Given the description of an element on the screen output the (x, y) to click on. 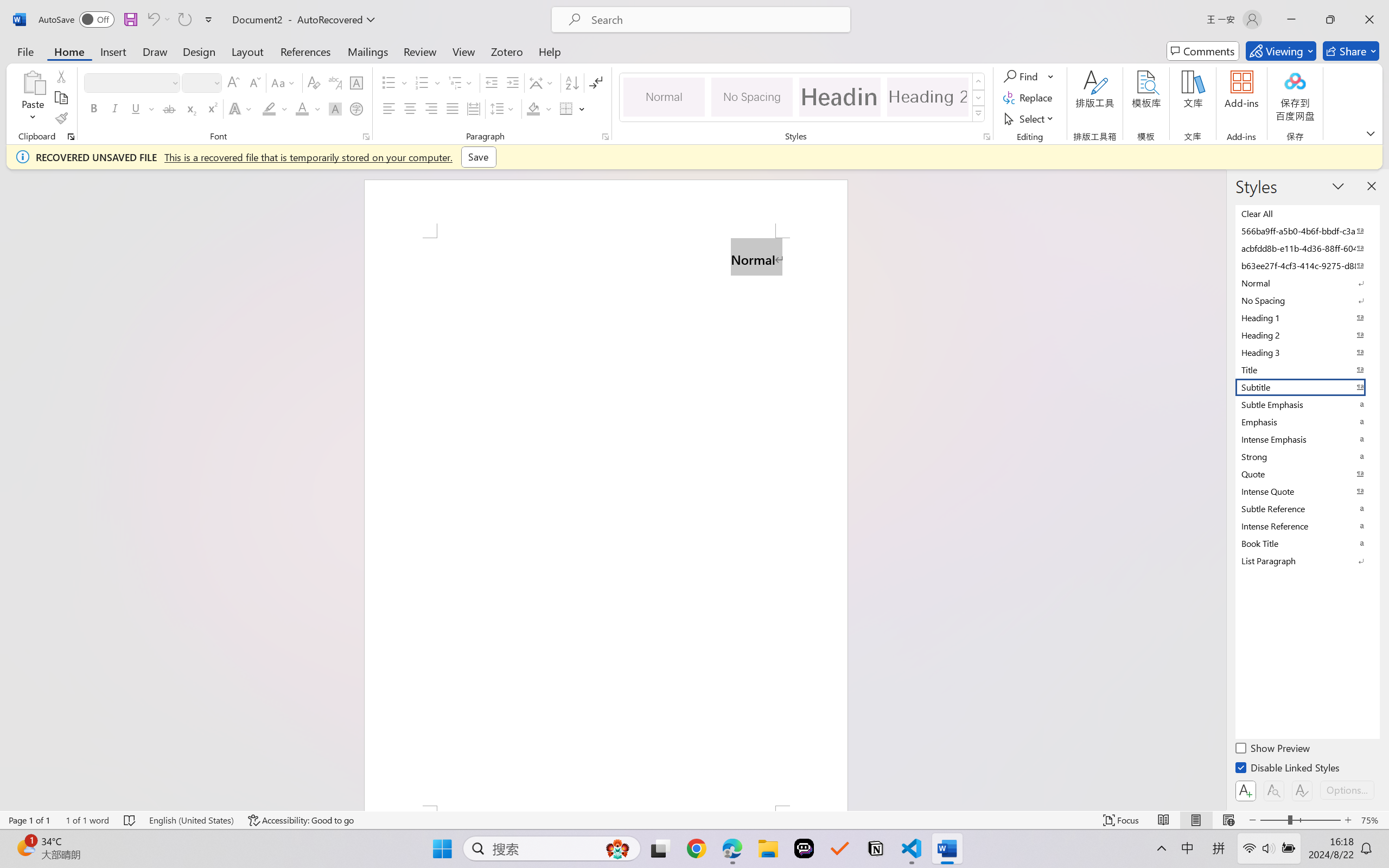
Font Color RGB(255, 0, 0) (302, 108)
List Paragraph (1306, 560)
Clear All (1306, 213)
Subscript (190, 108)
Ribbon Display Options (1370, 132)
Phonetic Guide... (334, 82)
Sort... (571, 82)
Title (1306, 369)
Select (1030, 118)
Styles (978, 113)
Line and Paragraph Spacing (503, 108)
